Given the description of an element on the screen output the (x, y) to click on. 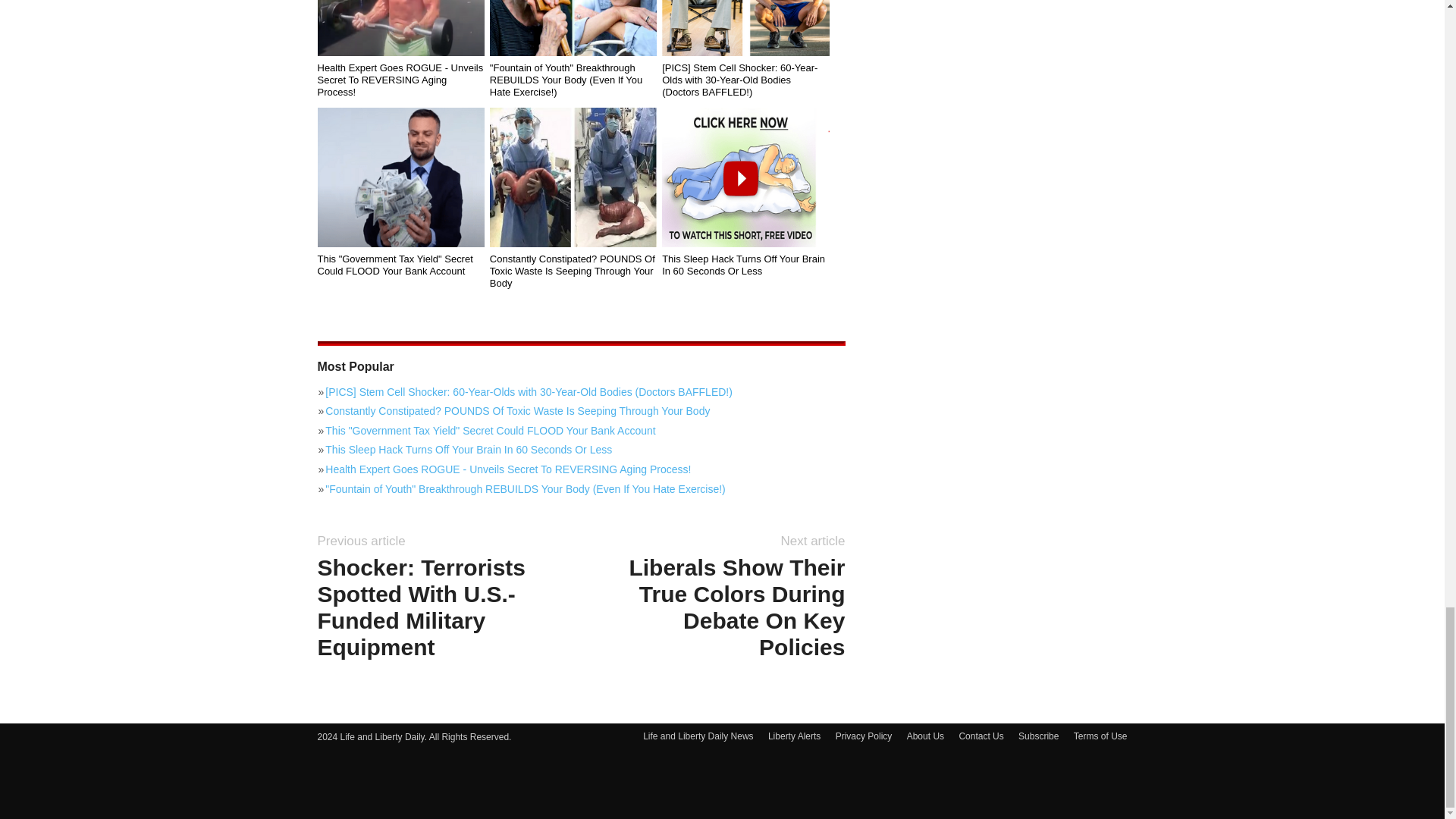
This Sleep Hack Turns Off Your Brain In 60 Seconds Or Less (745, 177)
This Sleep Hack Turns Off Your Brain In 60 Seconds Or Less (580, 449)
This Sleep Hack Turns Off Your Brain In 60 Seconds Or Less (745, 265)
This  (400, 177)
